Given the description of an element on the screen output the (x, y) to click on. 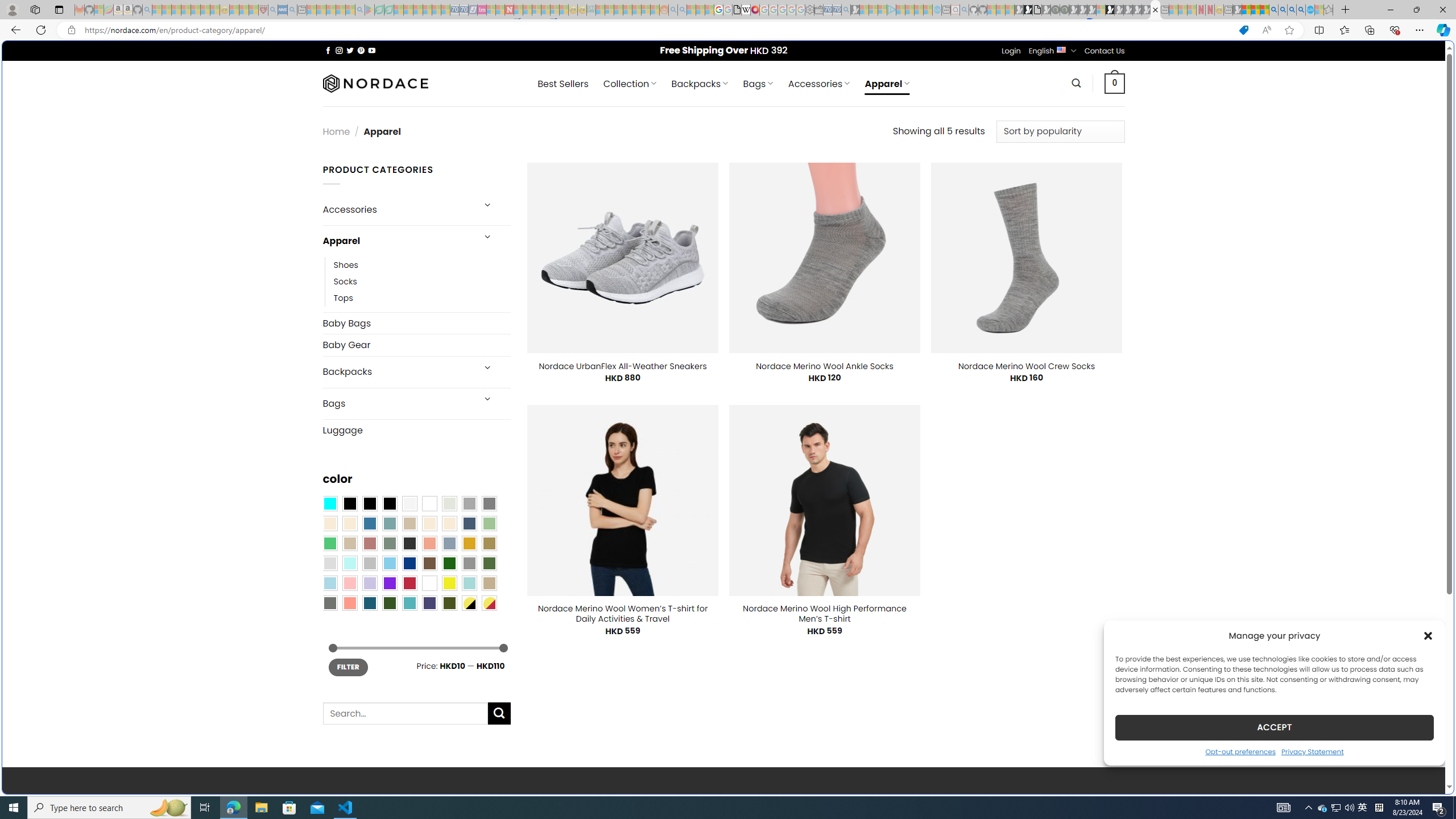
Light Gray (329, 562)
Ash Gray (449, 503)
Teal (408, 602)
Kinda Frugal - MSN - Sleeping (636, 9)
Purple (389, 582)
FILTER (347, 667)
Apparel (397, 241)
